Given the description of an element on the screen output the (x, y) to click on. 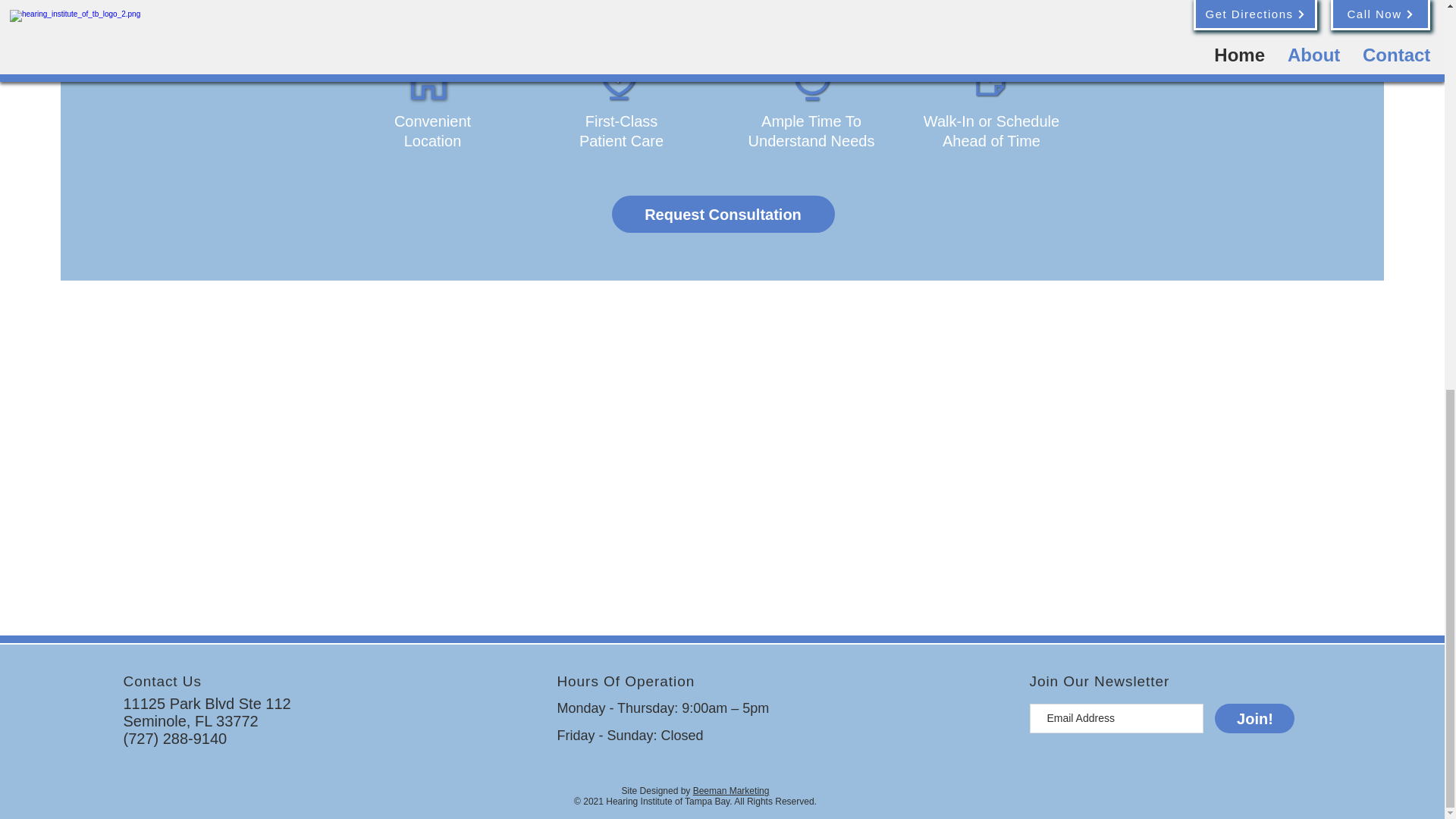
Beeman Marketing (731, 790)
Join! (1254, 718)
Request Consultation (722, 213)
